Given the description of an element on the screen output the (x, y) to click on. 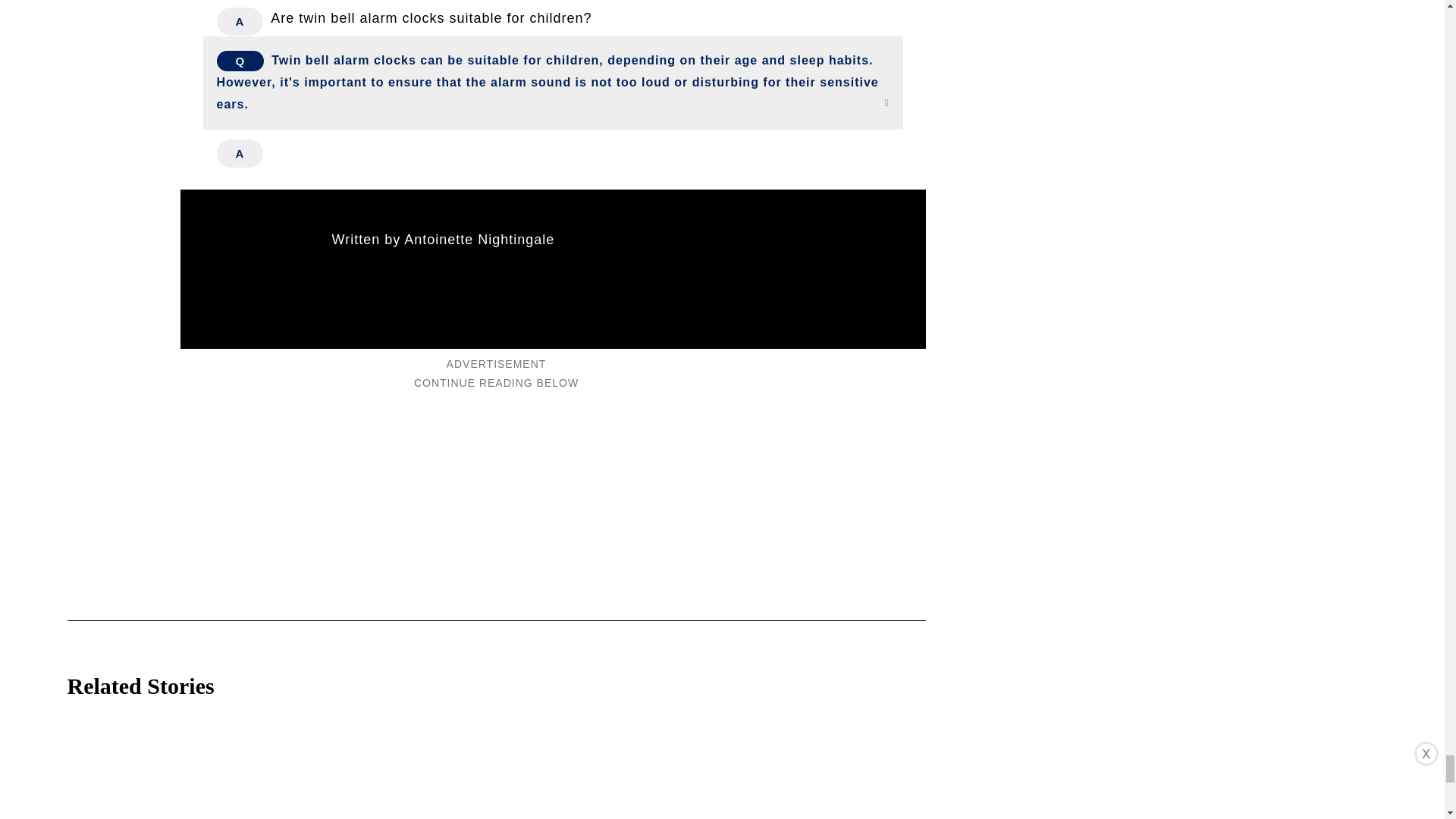
12 Best Old Fashioned Alarm Clock for 2024 (604, 765)
How To Set A Twin Bell Alarm Clock (386, 765)
11 Incredible Mechanical Alarm Clock for 2024 (823, 765)
10 Best Bell Alarm Clock for 2024 (167, 759)
